Given the description of an element on the screen output the (x, y) to click on. 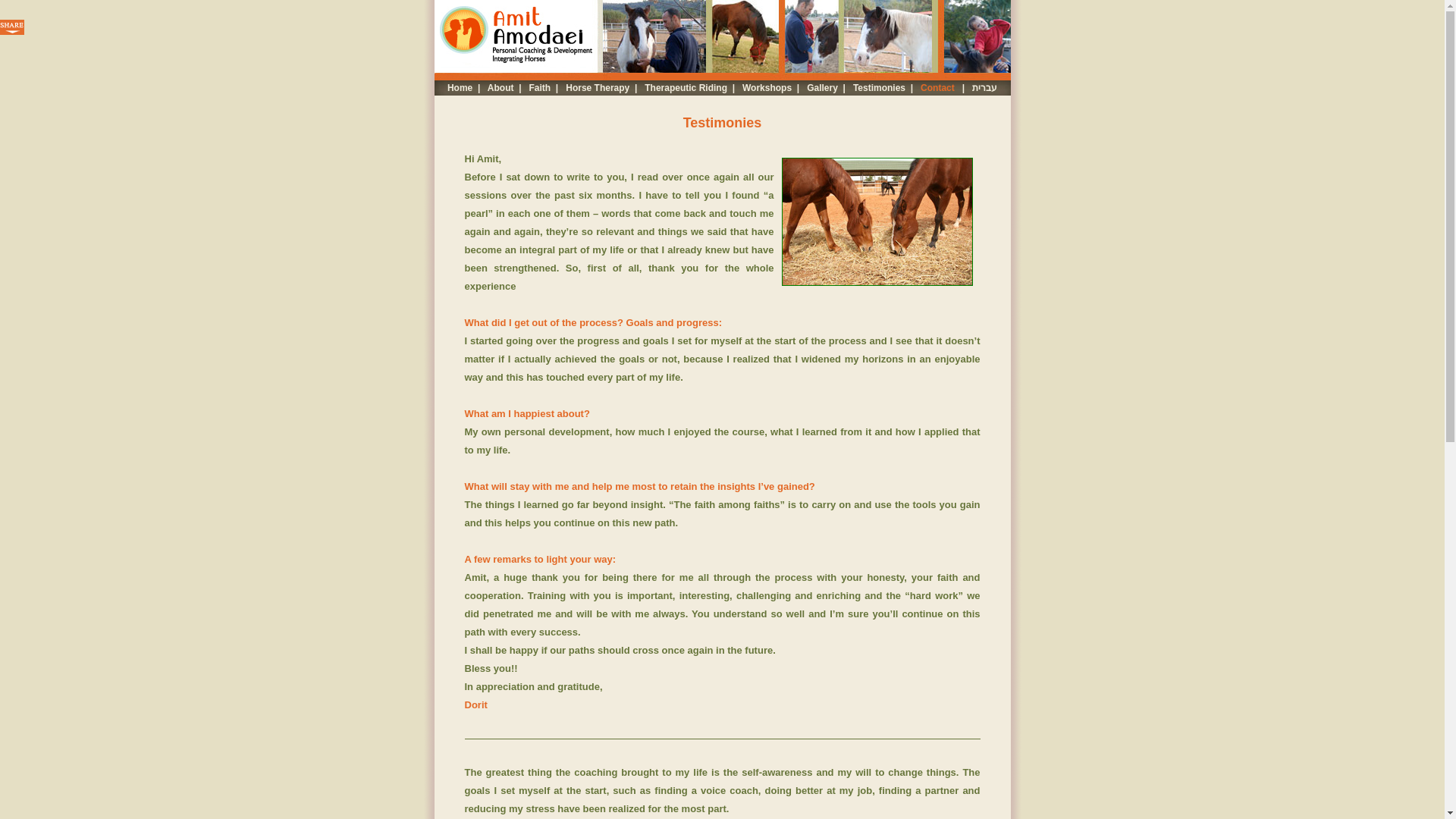
Therapeutic Riding (685, 87)
About (500, 87)
Home (458, 87)
Testimonies (879, 87)
Gallery (822, 87)
Faith (540, 87)
Workshops (767, 87)
Horse Therapy (597, 87)
Contact (938, 87)
